Given the description of an element on the screen output the (x, y) to click on. 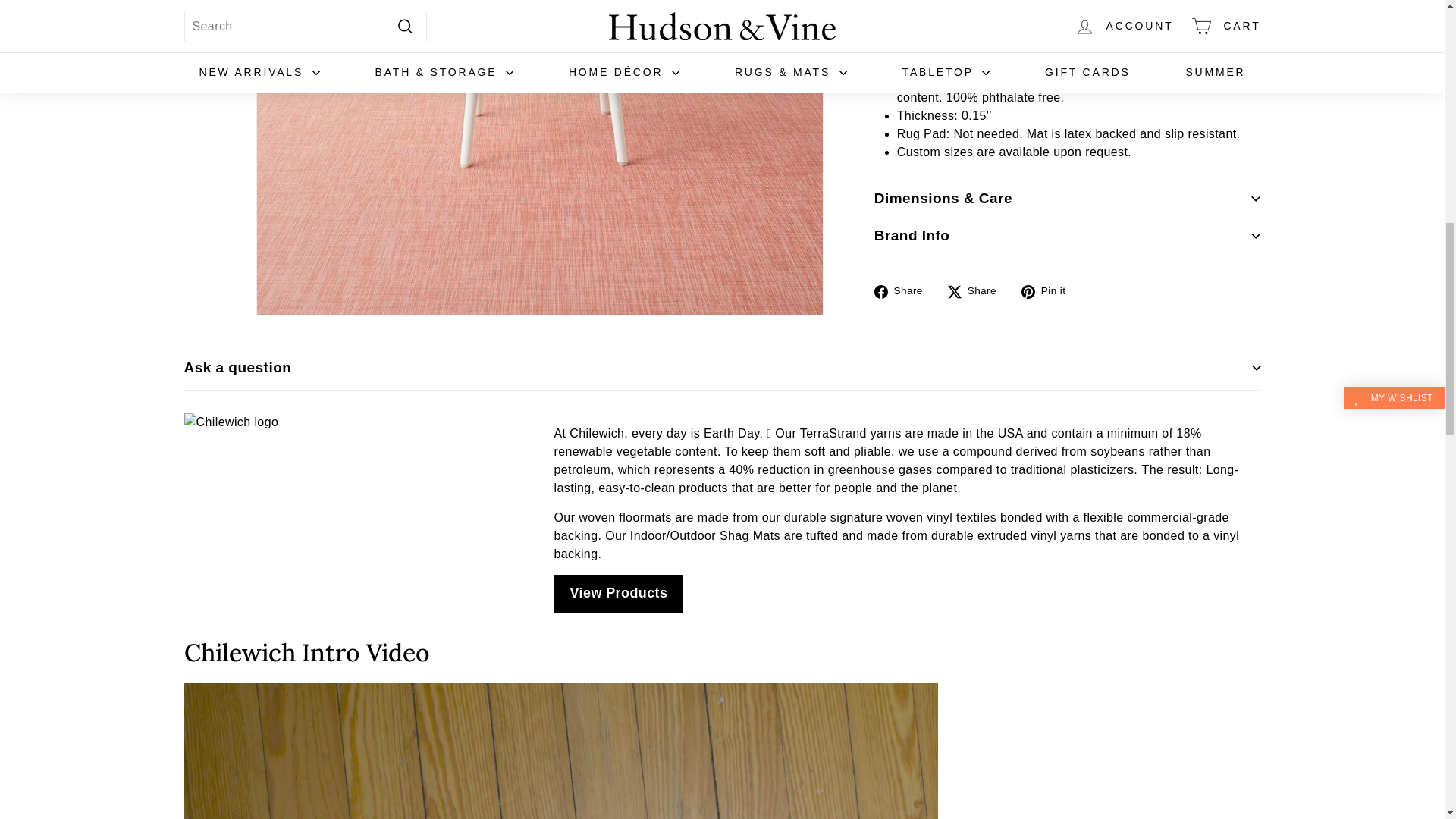
Share on Facebook (904, 290)
Pin on Pinterest (1049, 290)
Share on X (977, 290)
